Given the description of an element on the screen output the (x, y) to click on. 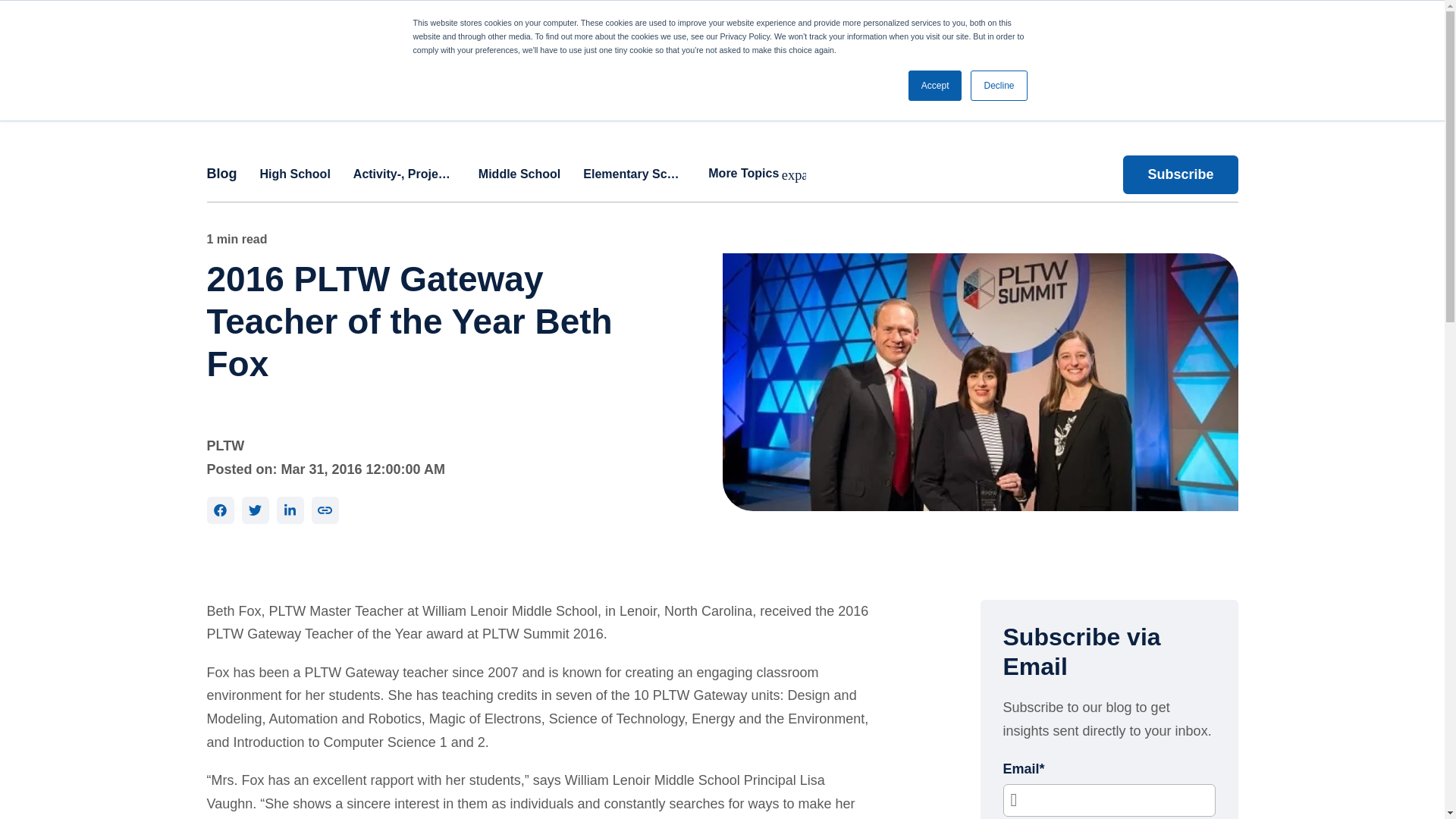
Tweet on Twitter (254, 510)
Copy (324, 510)
Accept (935, 85)
Login (1390, 17)
Explore Curriculum (211, 65)
Experience PLTW (478, 65)
Share on LinkedIn (289, 510)
Contact Us (1322, 17)
Share on Facebook (219, 510)
Plan for PLTW (350, 65)
Decline (998, 85)
